Given the description of an element on the screen output the (x, y) to click on. 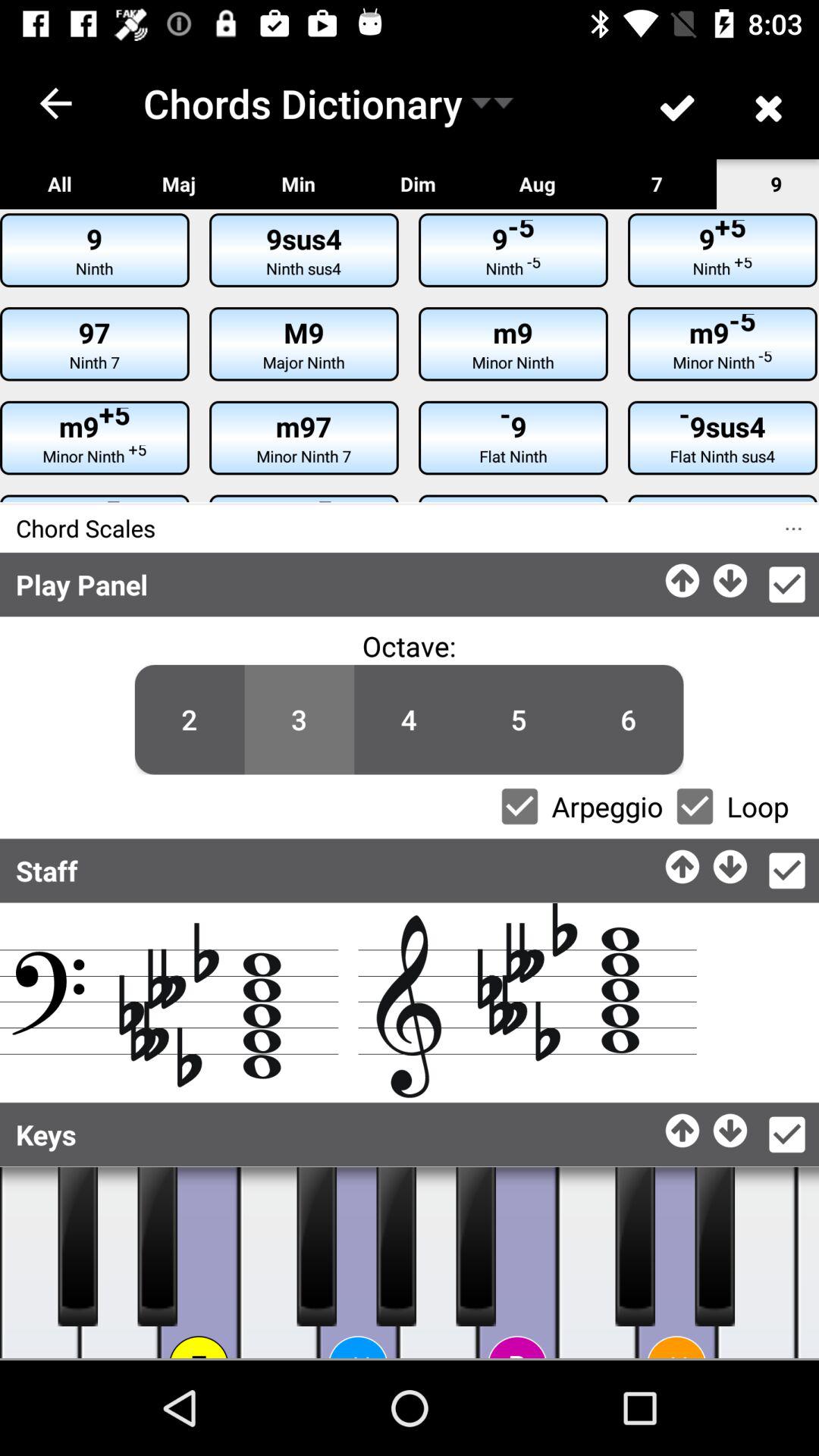
piano black key (635, 1246)
